Given the description of an element on the screen output the (x, y) to click on. 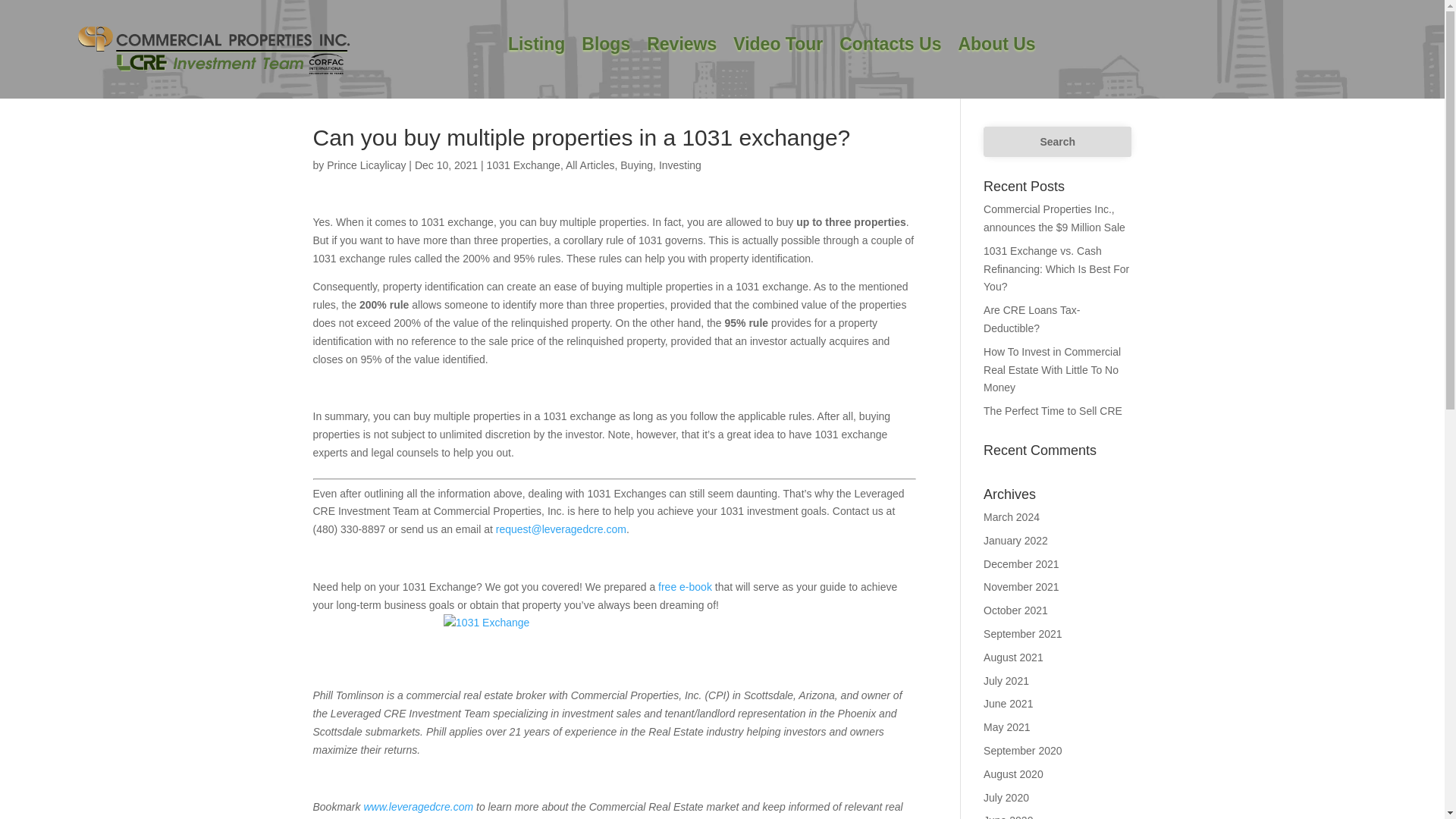
May 2021 (1006, 727)
July 2020 (1006, 797)
July 2021 (1006, 680)
All Articles (590, 164)
Investing (680, 164)
November 2021 (1021, 586)
September 2021 (1023, 633)
Prince Licaylicay (366, 164)
August 2021 (1013, 657)
